Given the description of an element on the screen output the (x, y) to click on. 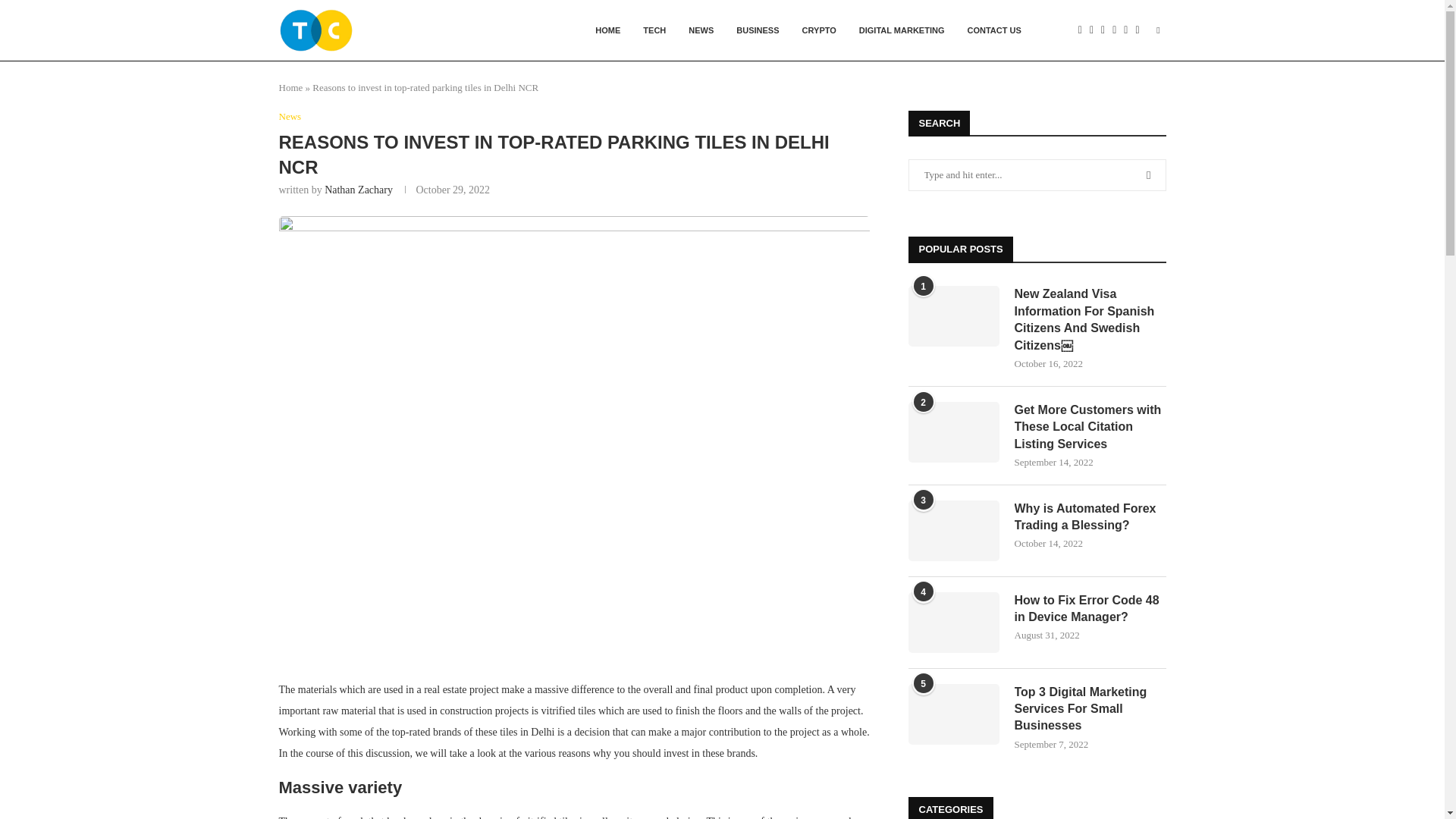
CRYPTO (818, 30)
DIGITAL MARKETING (901, 30)
CONTACT US (993, 30)
BUSINESS (757, 30)
Nathan Zachary (358, 189)
News (290, 116)
Home (290, 87)
